Given the description of an element on the screen output the (x, y) to click on. 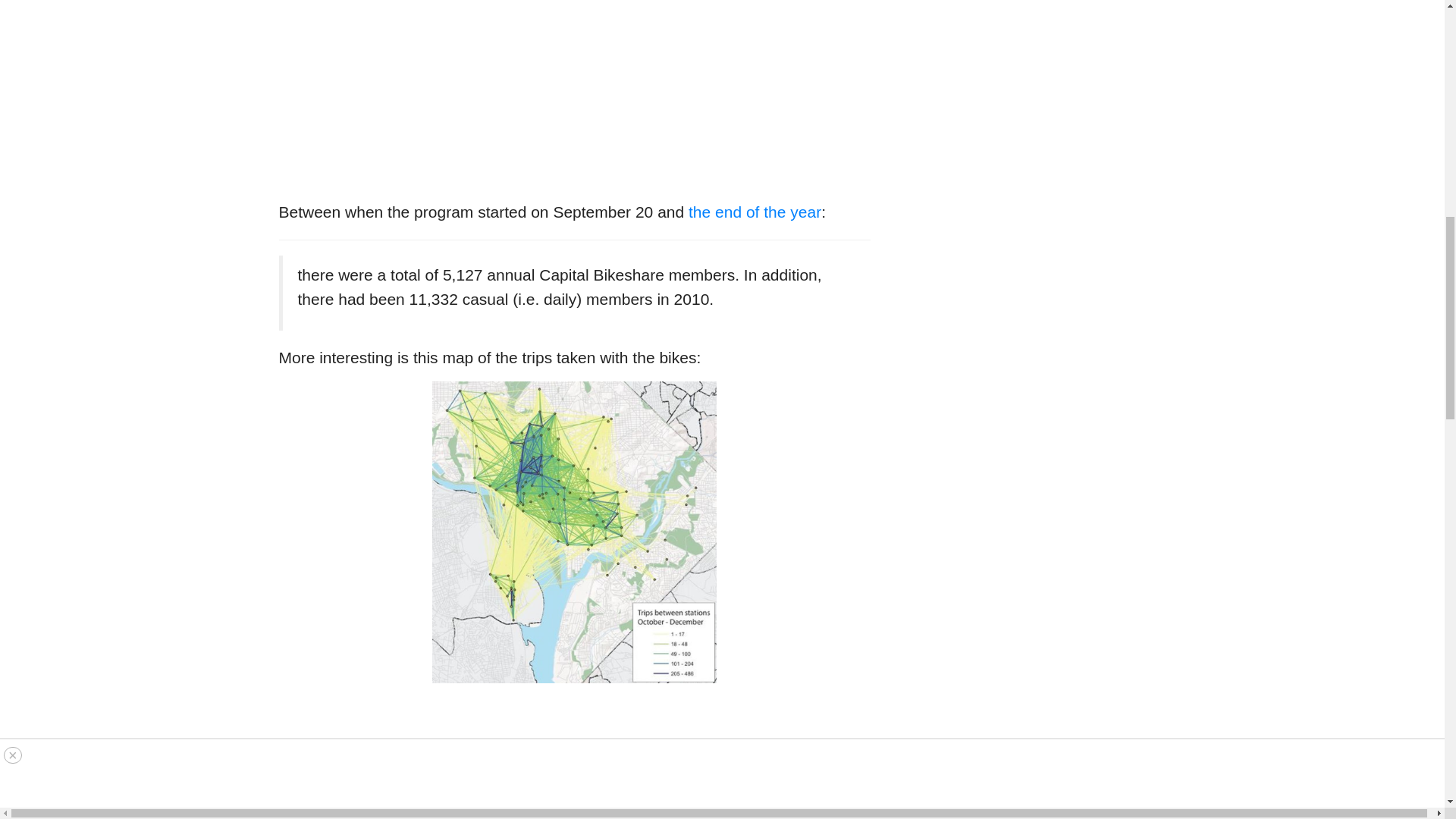
the end of the year (754, 211)
